Given the description of an element on the screen output the (x, y) to click on. 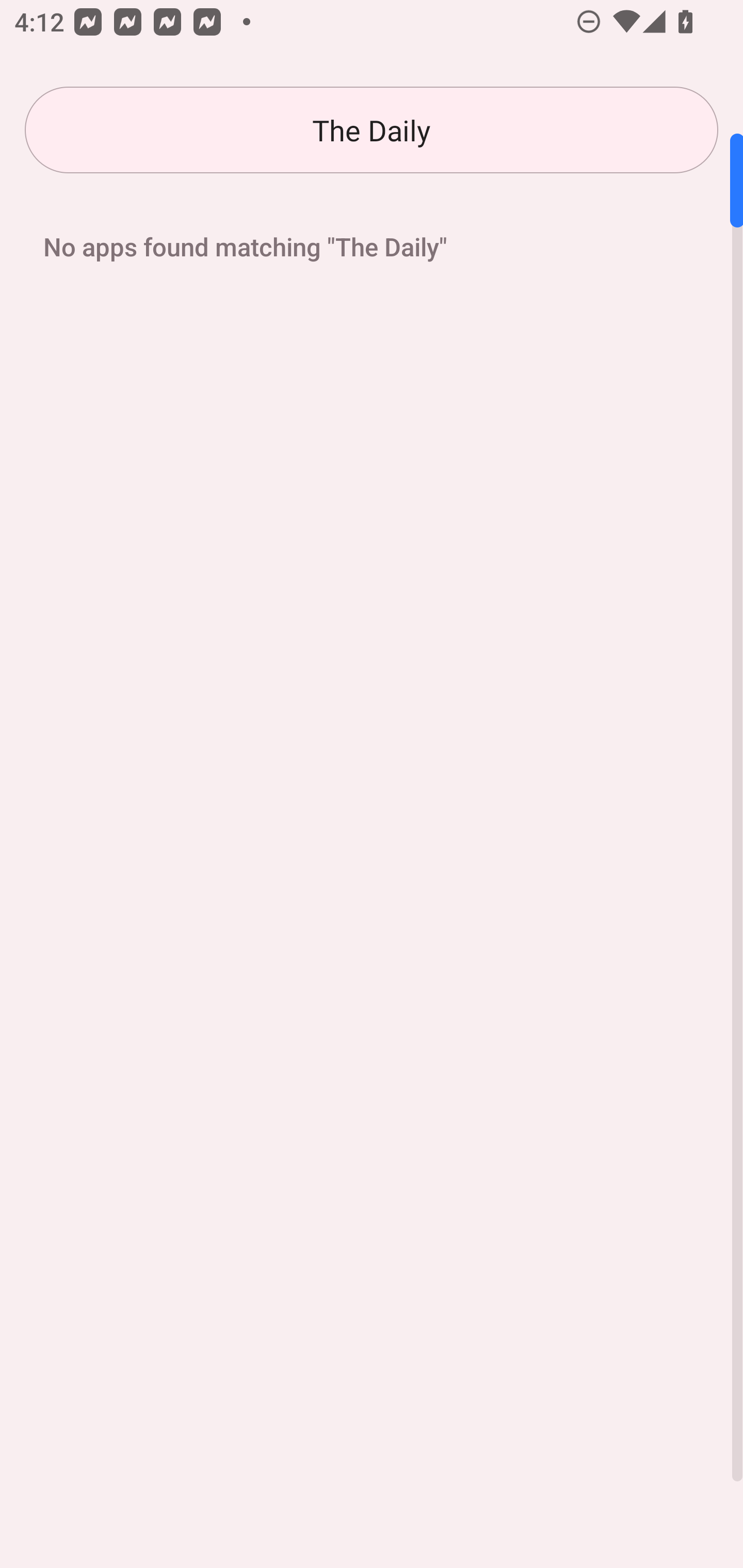
The Daily (371, 130)
